Given the description of an element on the screen output the (x, y) to click on. 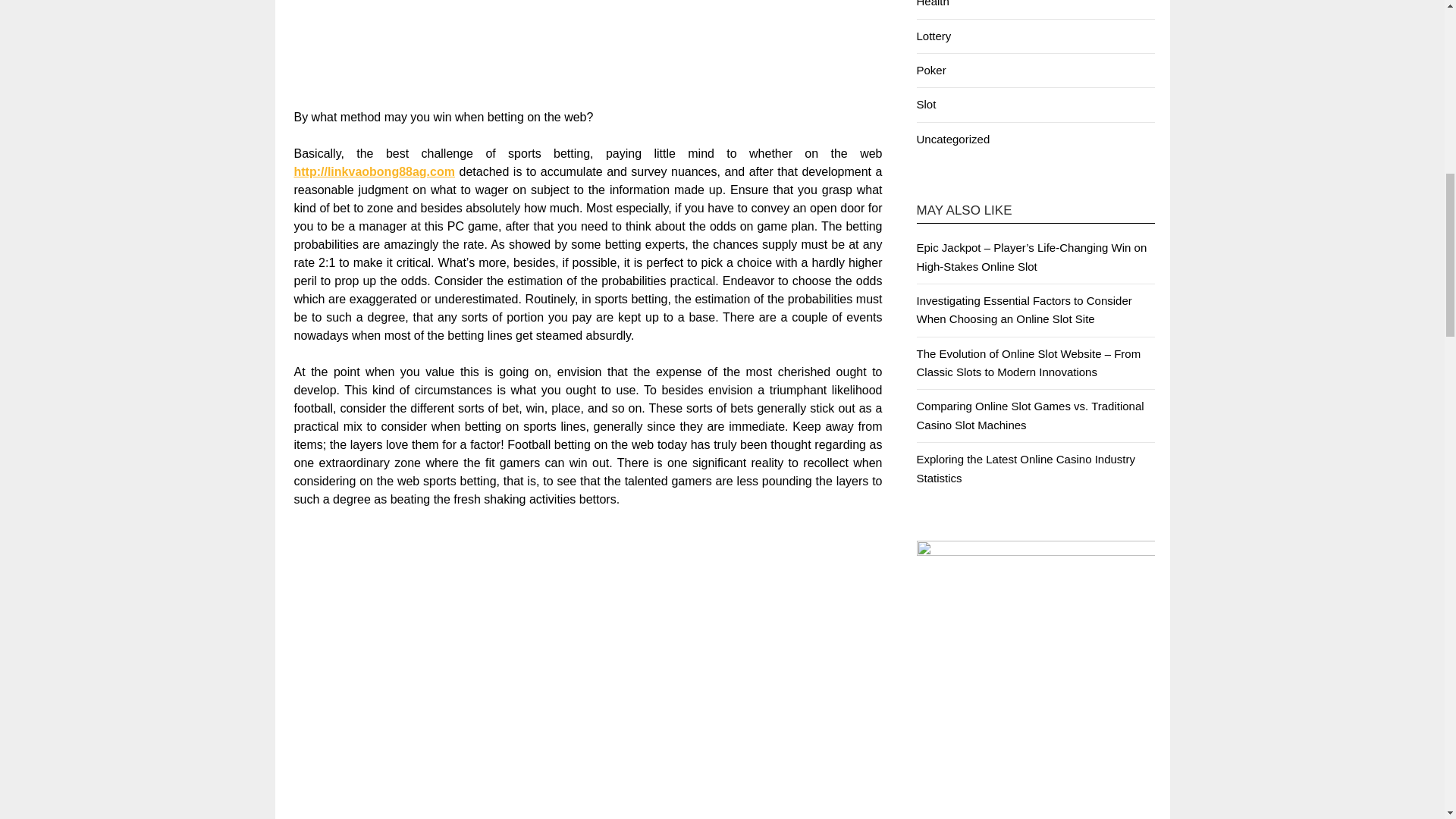
Exploring the Latest Online Casino Industry Statistics (1025, 468)
Poker (929, 69)
Lottery (932, 35)
Health (932, 3)
Uncategorized (952, 138)
Slot (925, 103)
